Given the description of an element on the screen output the (x, y) to click on. 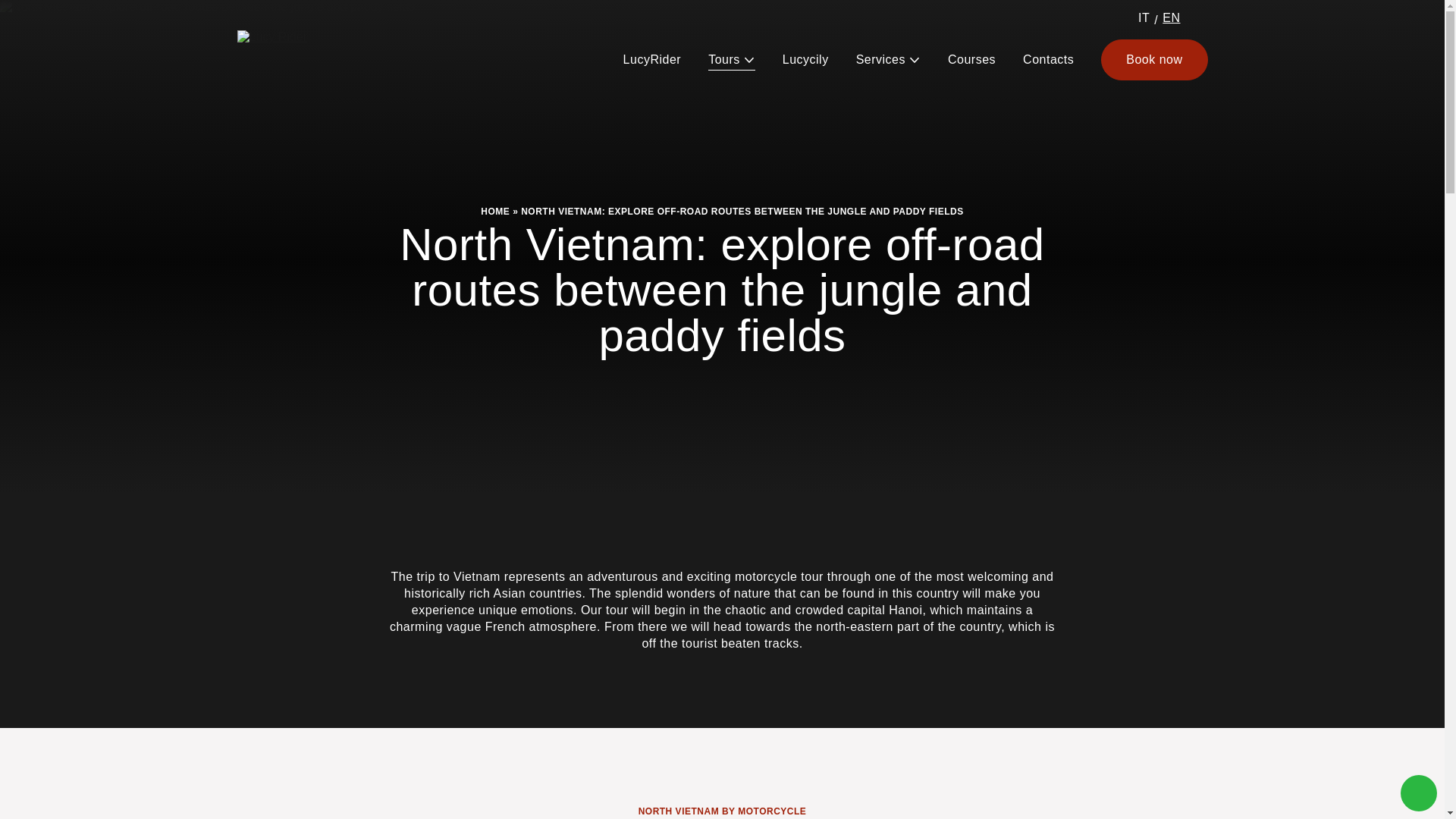
Whatsapp (1418, 792)
Lucycily (805, 59)
Contacts (1048, 59)
It (1144, 18)
LucyRider (652, 59)
EN (1170, 20)
Torna alla homepage (303, 59)
Tours (731, 59)
HOME (494, 211)
Book now (1153, 59)
